Given the description of an element on the screen output the (x, y) to click on. 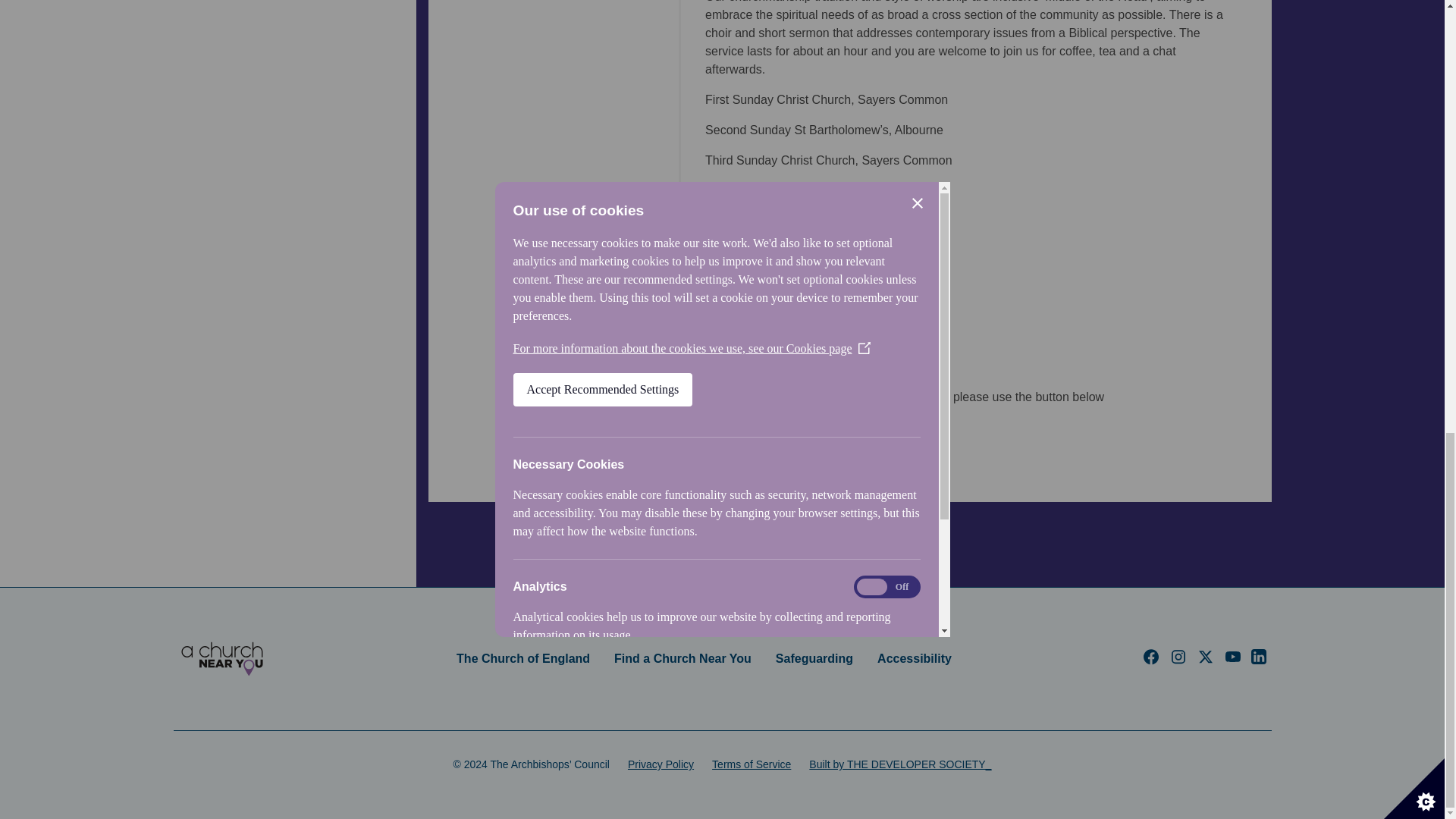
ACNY home (221, 658)
OPEN GOOGLE MAPS (777, 435)
